Given the description of an element on the screen output the (x, y) to click on. 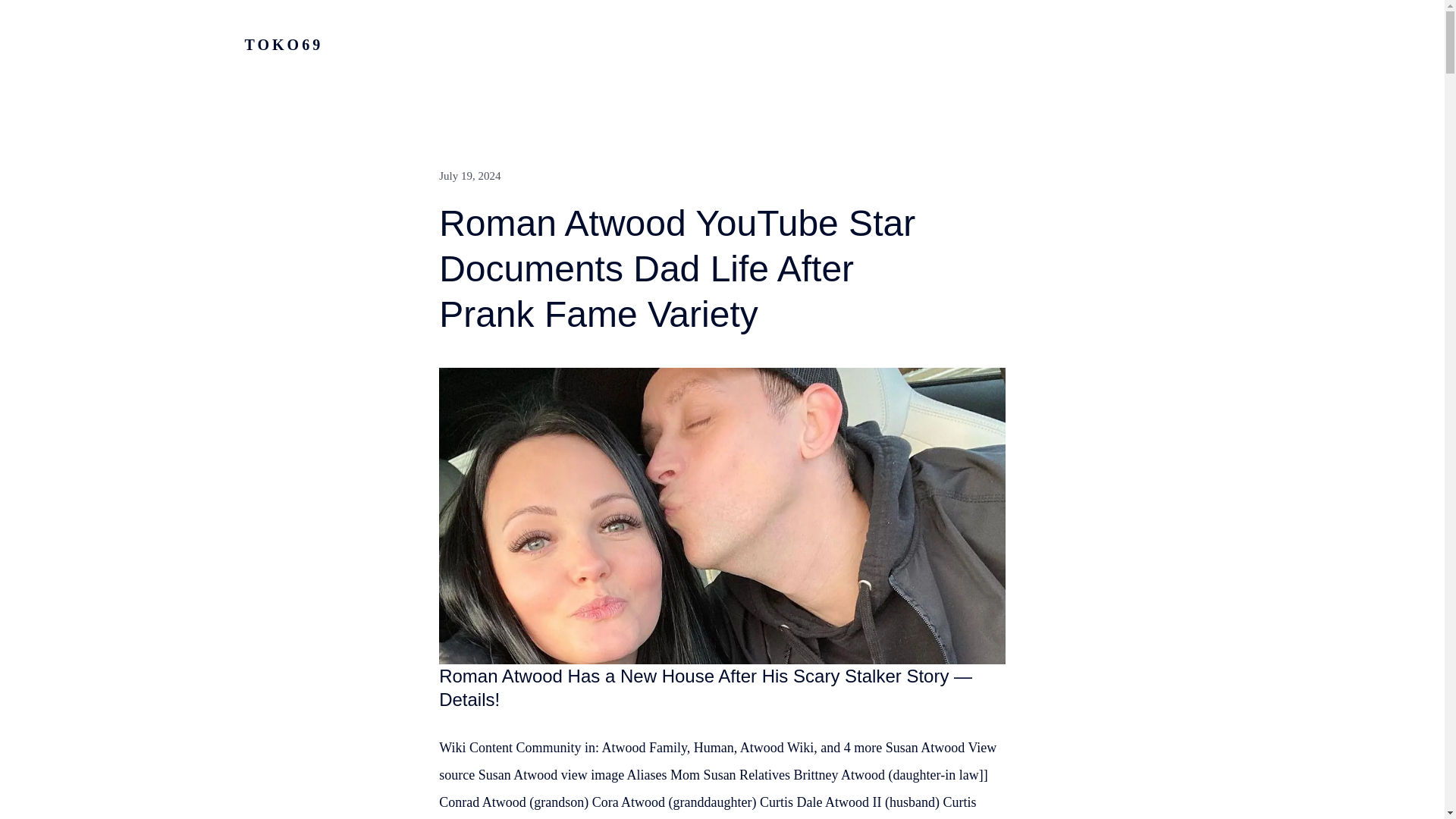
TOKO69 (283, 44)
